Given the description of an element on the screen output the (x, y) to click on. 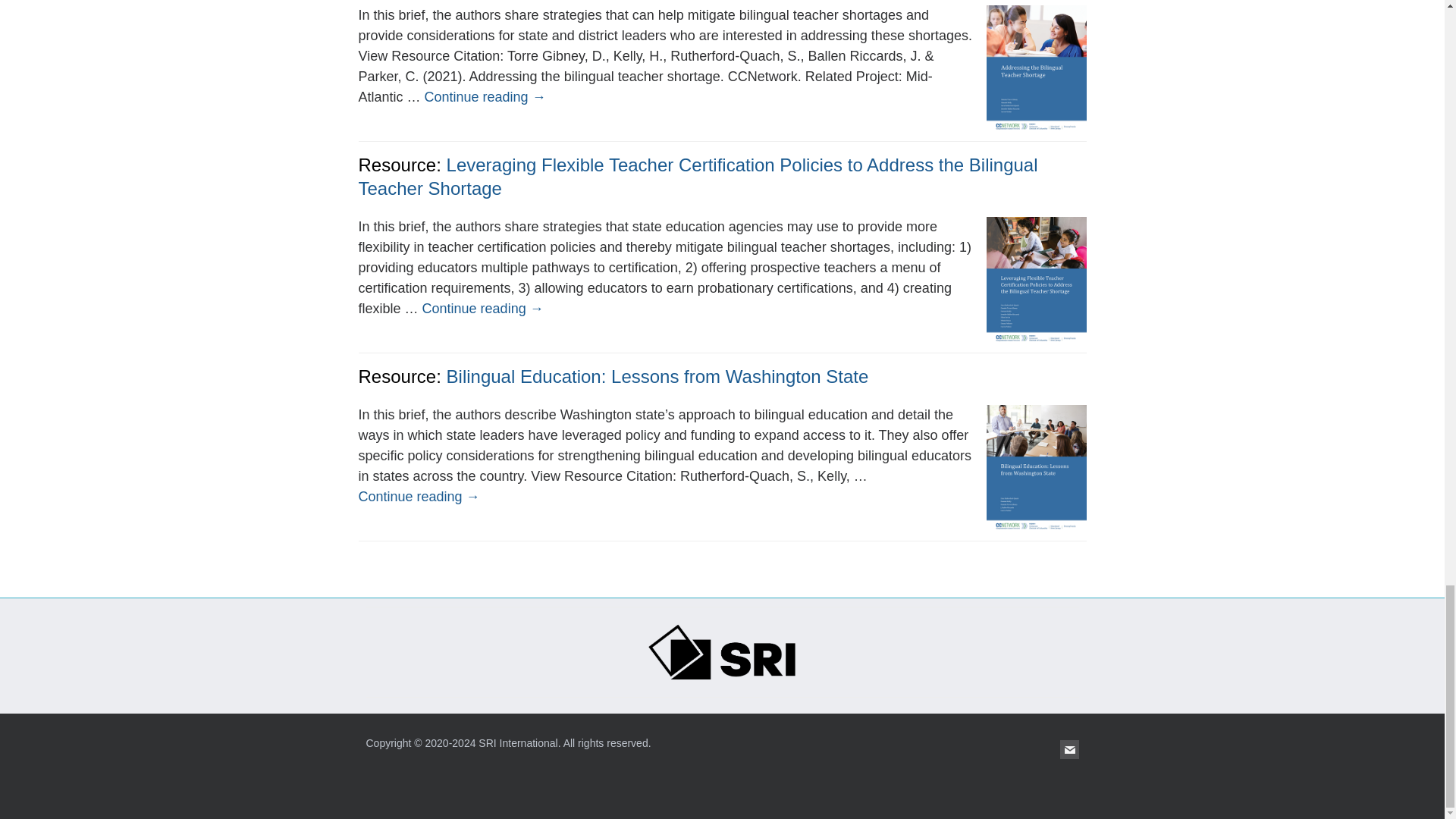
Bilingual Education: Lessons from Washington State (657, 376)
